Given the description of an element on the screen output the (x, y) to click on. 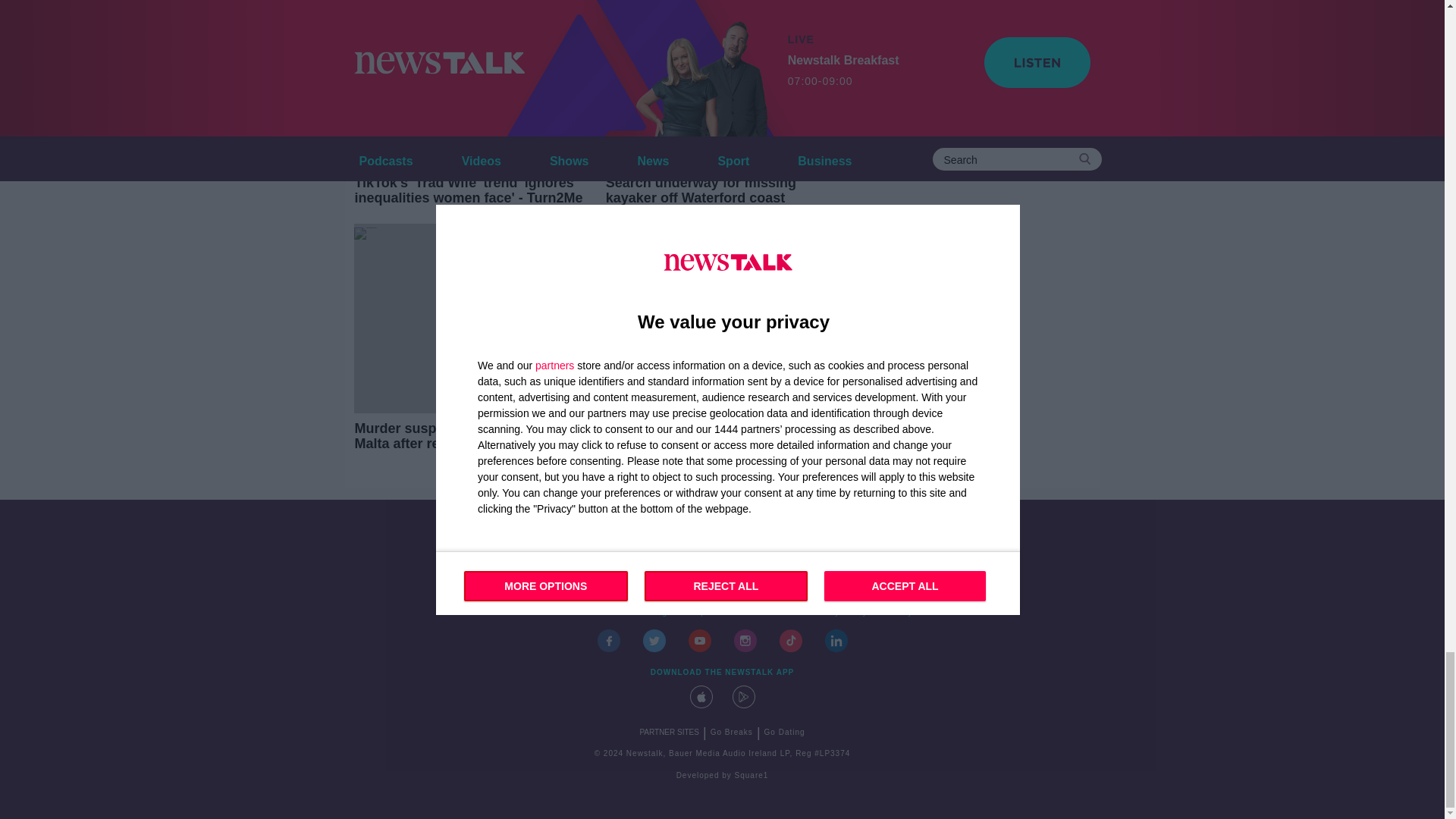
Privacy (897, 612)
site terms (772, 612)
Privacy Policy (838, 612)
competitions (708, 612)
events (592, 612)
advertising (644, 612)
contact (547, 612)
